Given the description of an element on the screen output the (x, y) to click on. 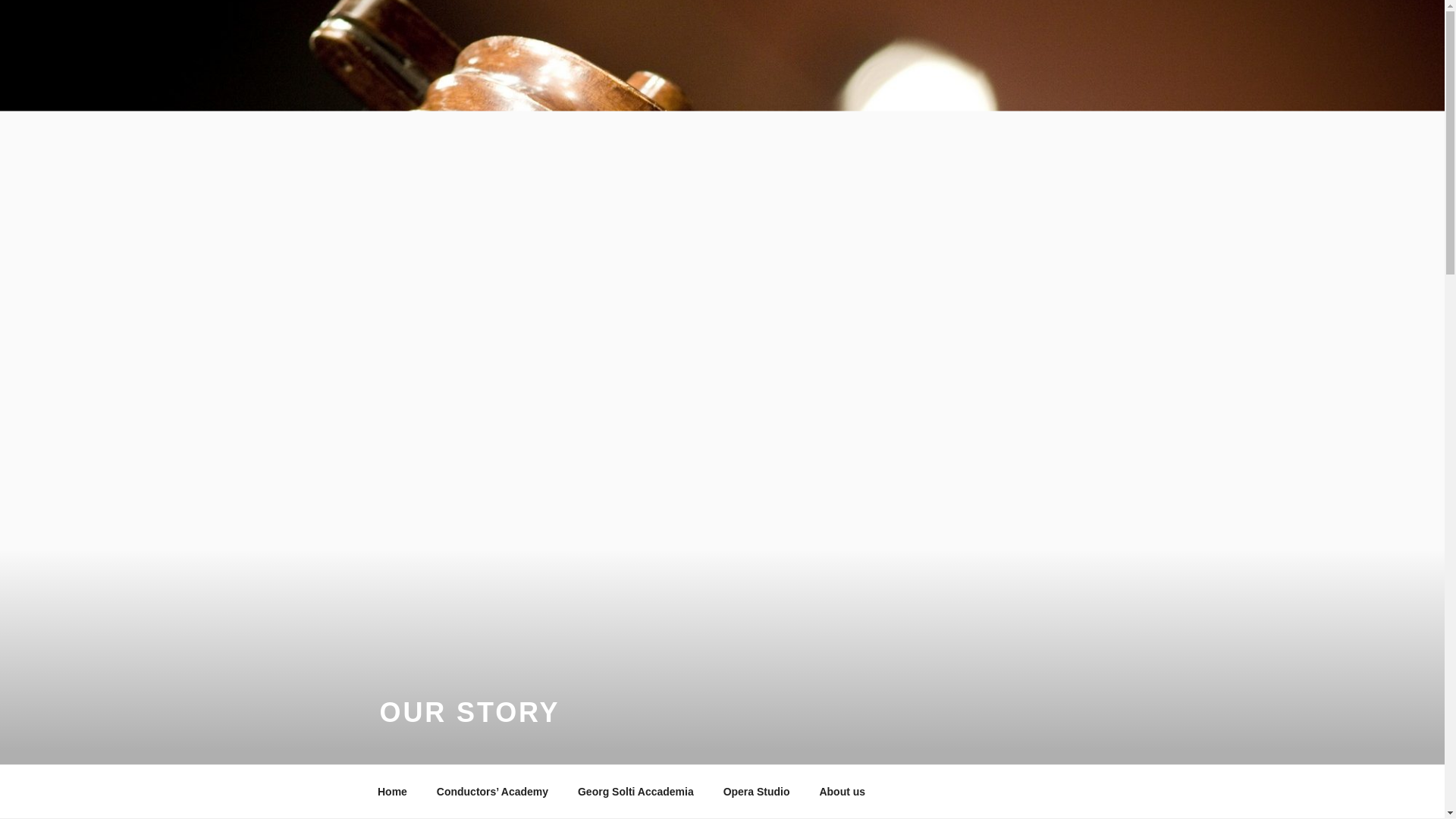
About us (847, 791)
Opera Studio (756, 791)
Georg Solti Accademia (635, 791)
Home (392, 791)
